Given the description of an element on the screen output the (x, y) to click on. 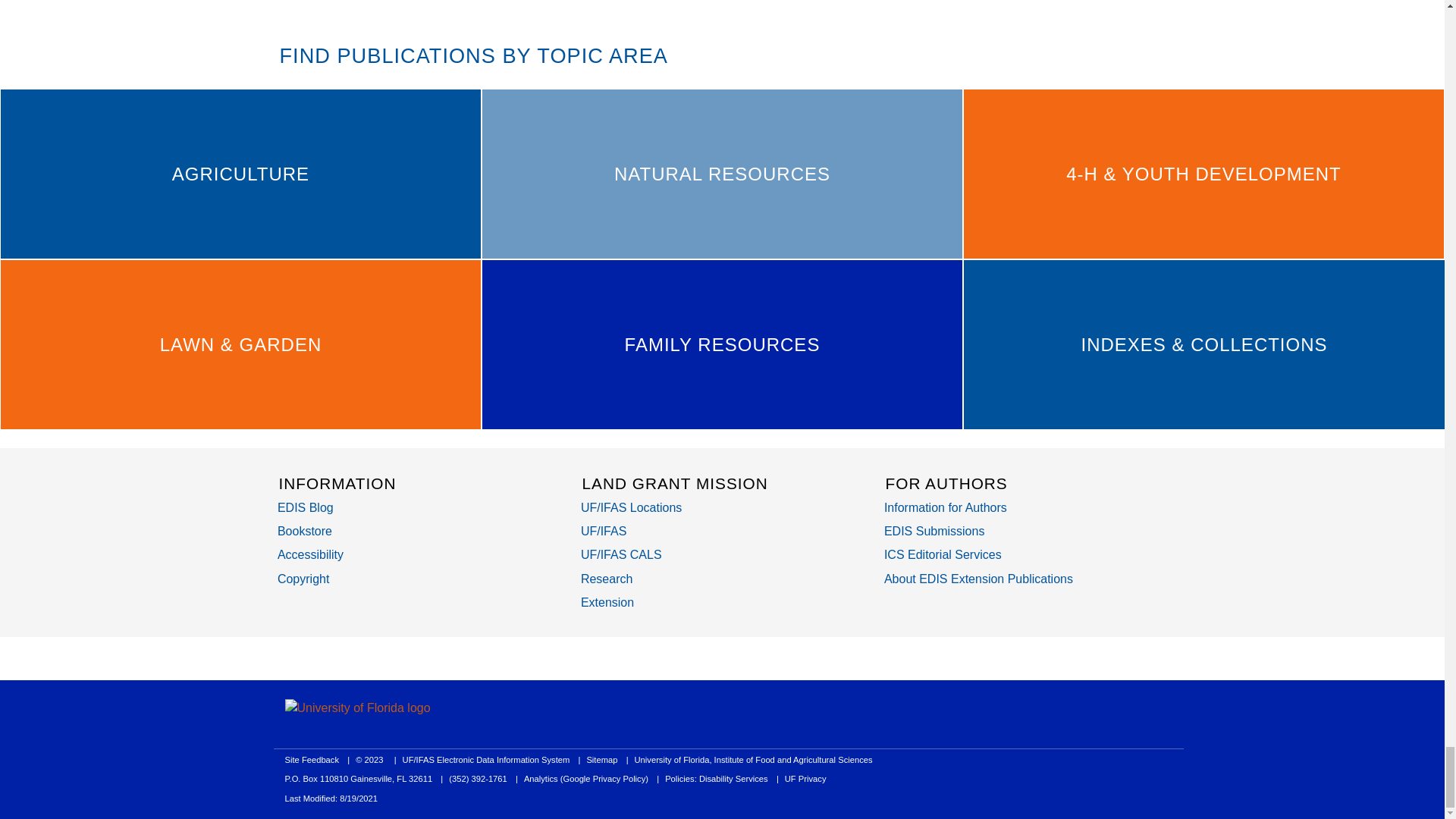
EDIS Blog (305, 507)
Accessibility (310, 554)
EDIS Blog (305, 507)
Bookstore (304, 530)
FAMILY RESOURCES (721, 344)
AGRICULTURE (240, 173)
NATURAL RESOURCES (721, 173)
Copyright (303, 578)
Accessibility (310, 554)
